Given the description of an element on the screen output the (x, y) to click on. 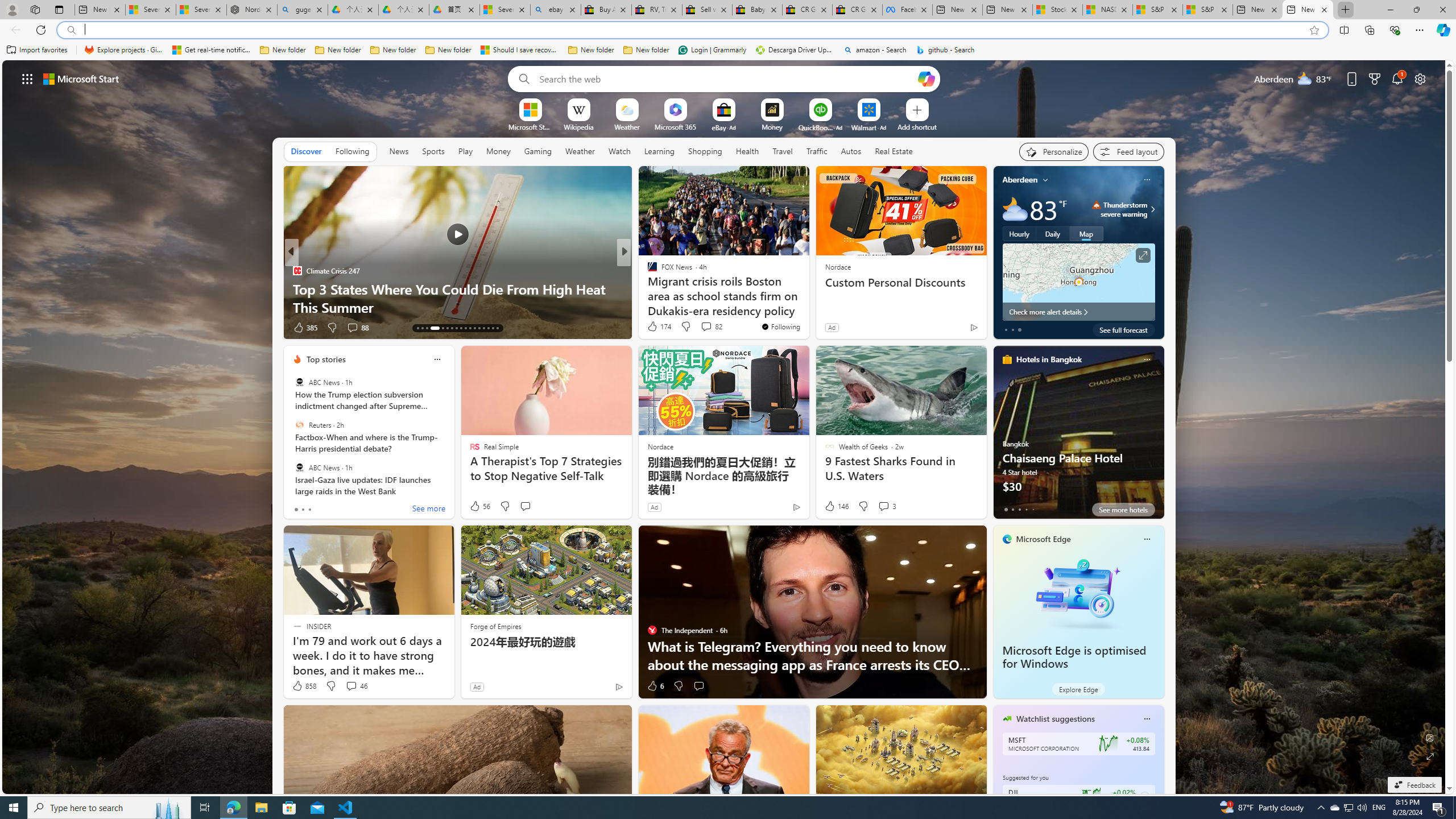
AutomationID: tab-27 (488, 328)
Search icon (70, 29)
82 Like (652, 327)
S&P 500, Nasdaq end lower, weighed by Nvidia dip | Watch (1207, 9)
Import favorites (36, 49)
Like (648, 327)
AutomationID: backgroundImagePicture (723, 426)
Microsoft 365 (675, 126)
